Given the description of an element on the screen output the (x, y) to click on. 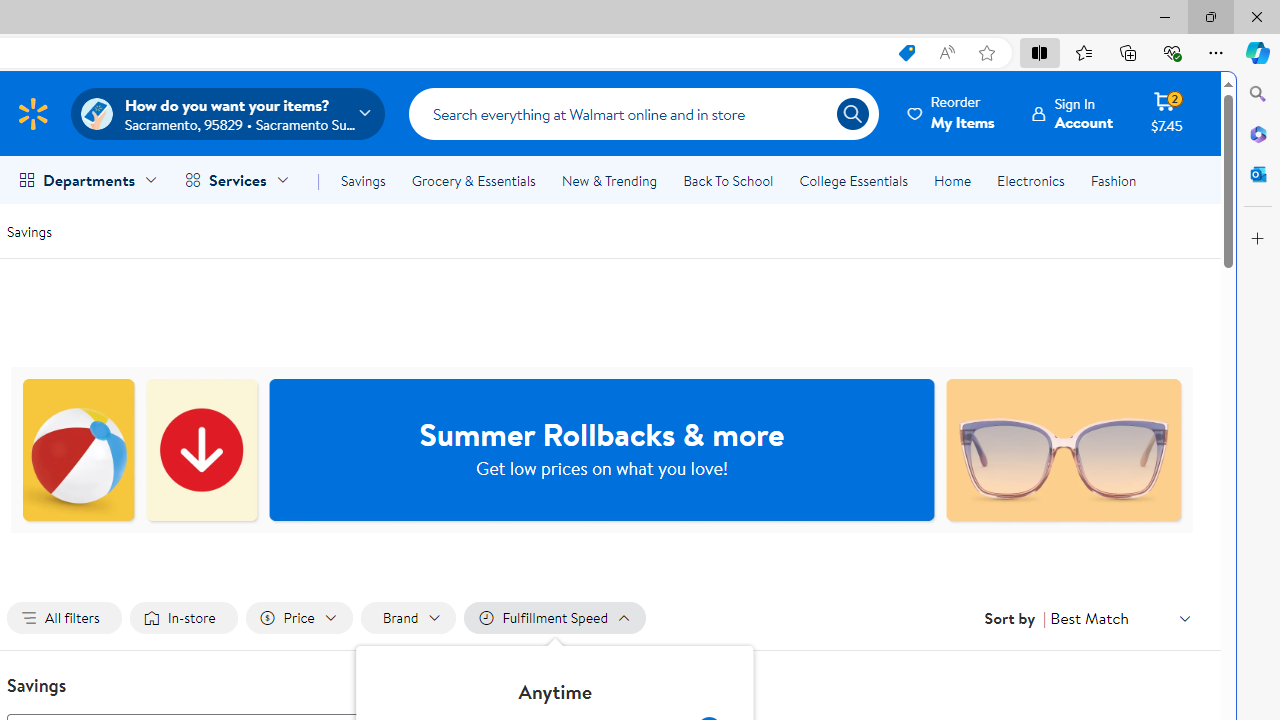
ReorderMy Items (952, 113)
Back To School (728, 180)
Savings (29, 230)
Filter by Price not applied, activate to change (298, 618)
College Essentials (852, 180)
College Essentials (852, 180)
Close Search pane (1258, 94)
